Given the description of an element on the screen output the (x, y) to click on. 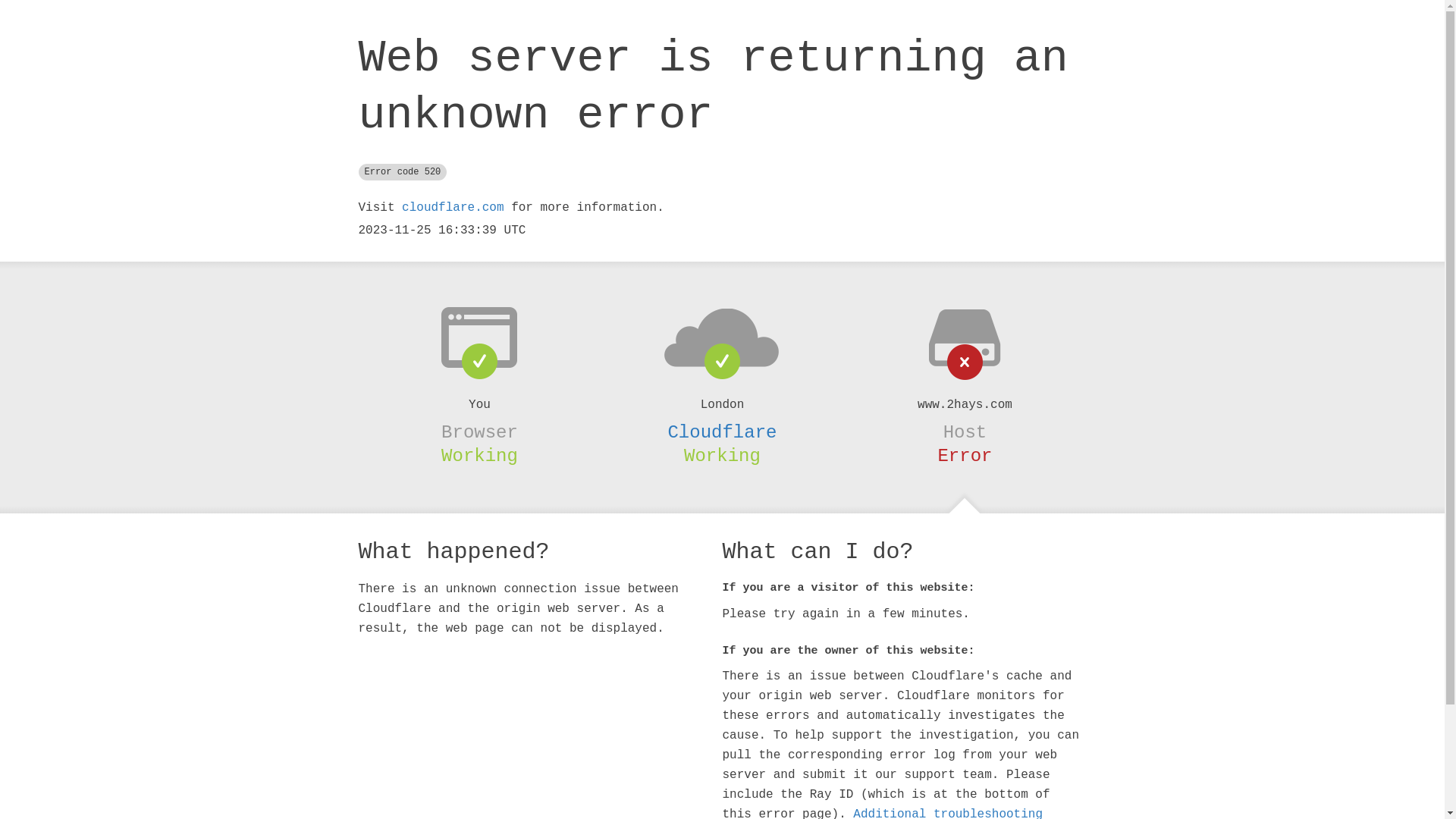
Cloudflare Element type: text (721, 432)
cloudflare.com Element type: text (452, 207)
